Given the description of an element on the screen output the (x, y) to click on. 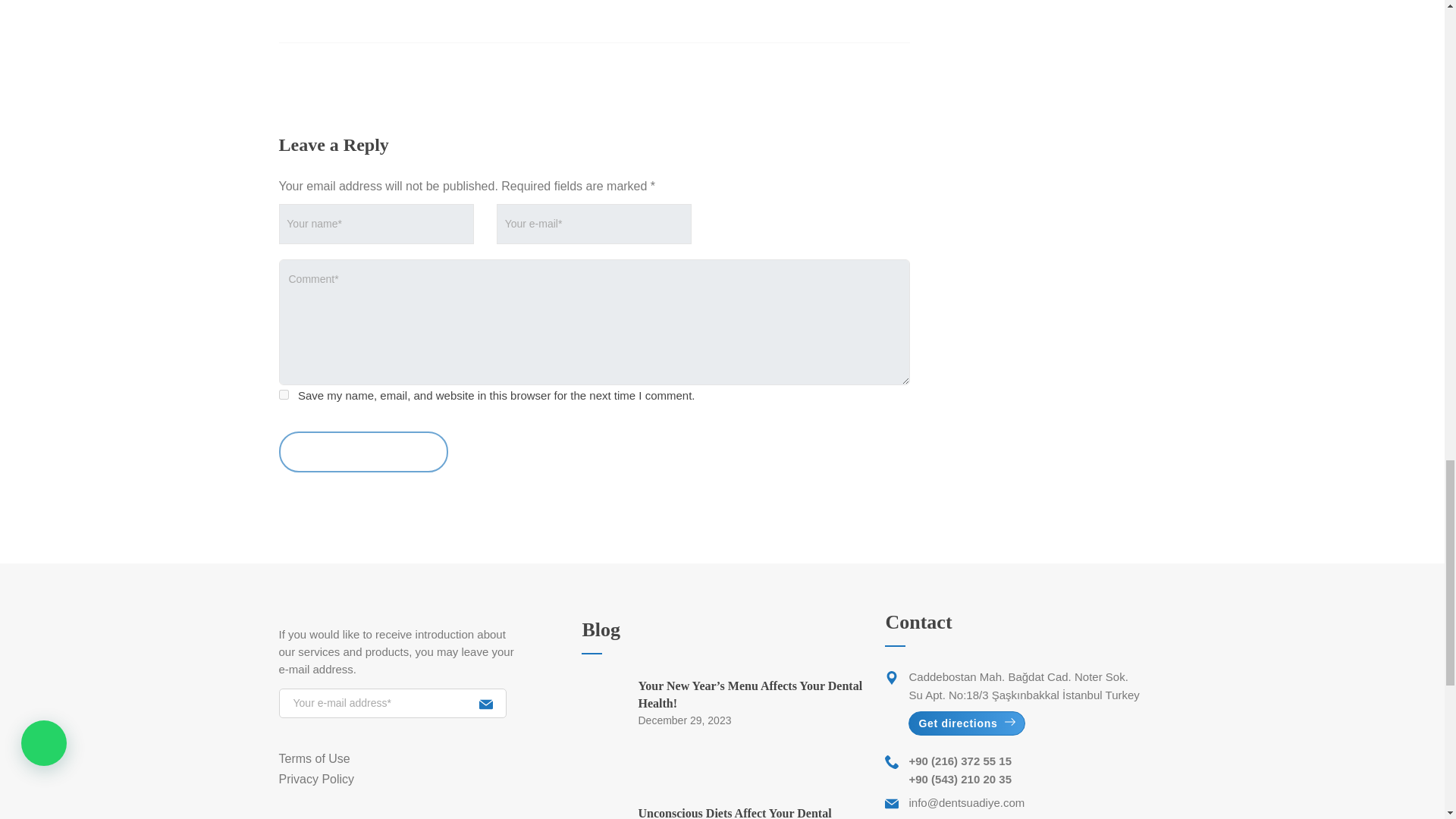
yes (283, 394)
